Given the description of an element on the screen output the (x, y) to click on. 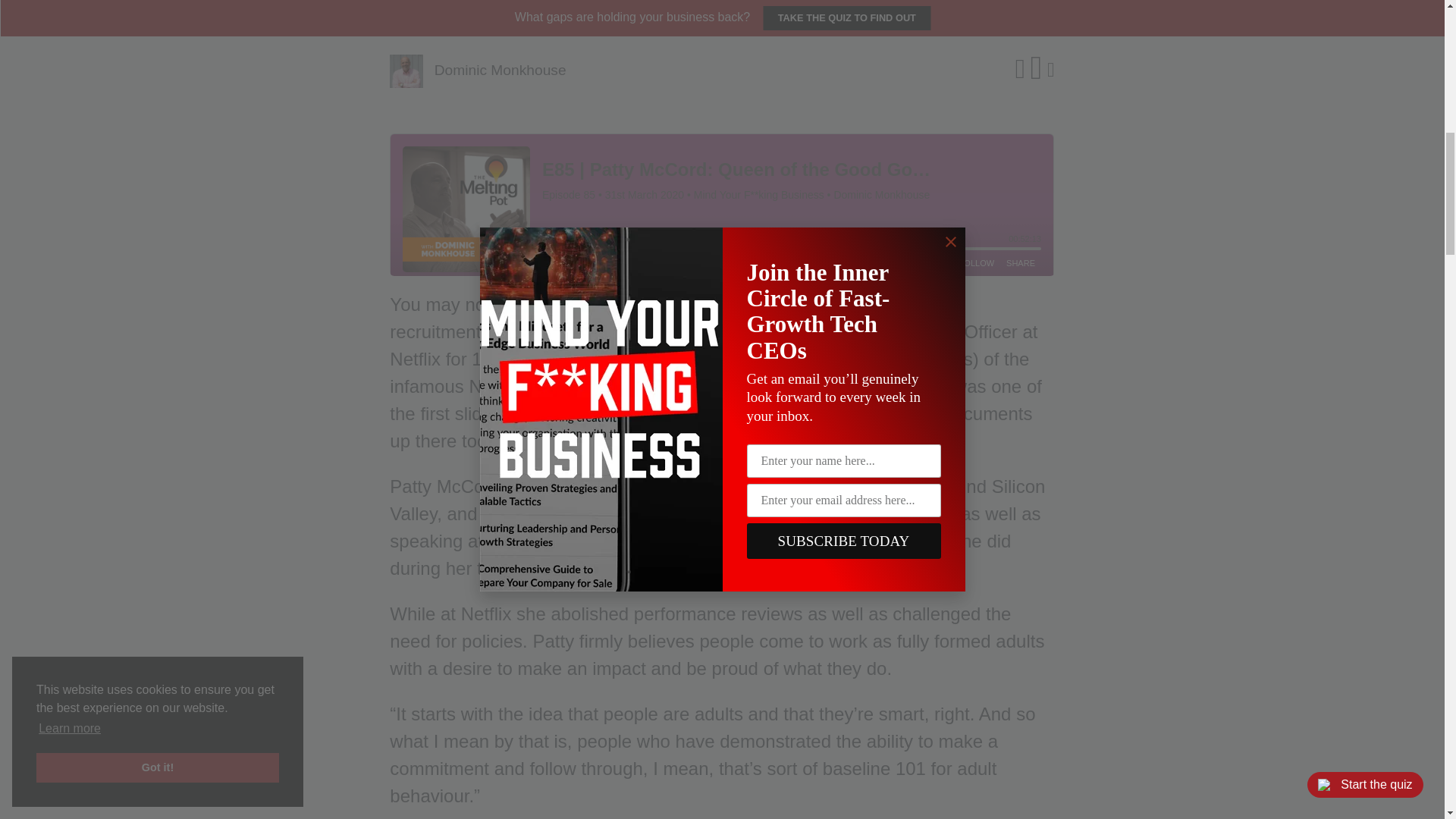
Share on Twitter (1019, 70)
Dominic Monkhouse (499, 69)
Share on Facebook (1050, 70)
Share on LinkedIn (1036, 70)
